Given the description of an element on the screen output the (x, y) to click on. 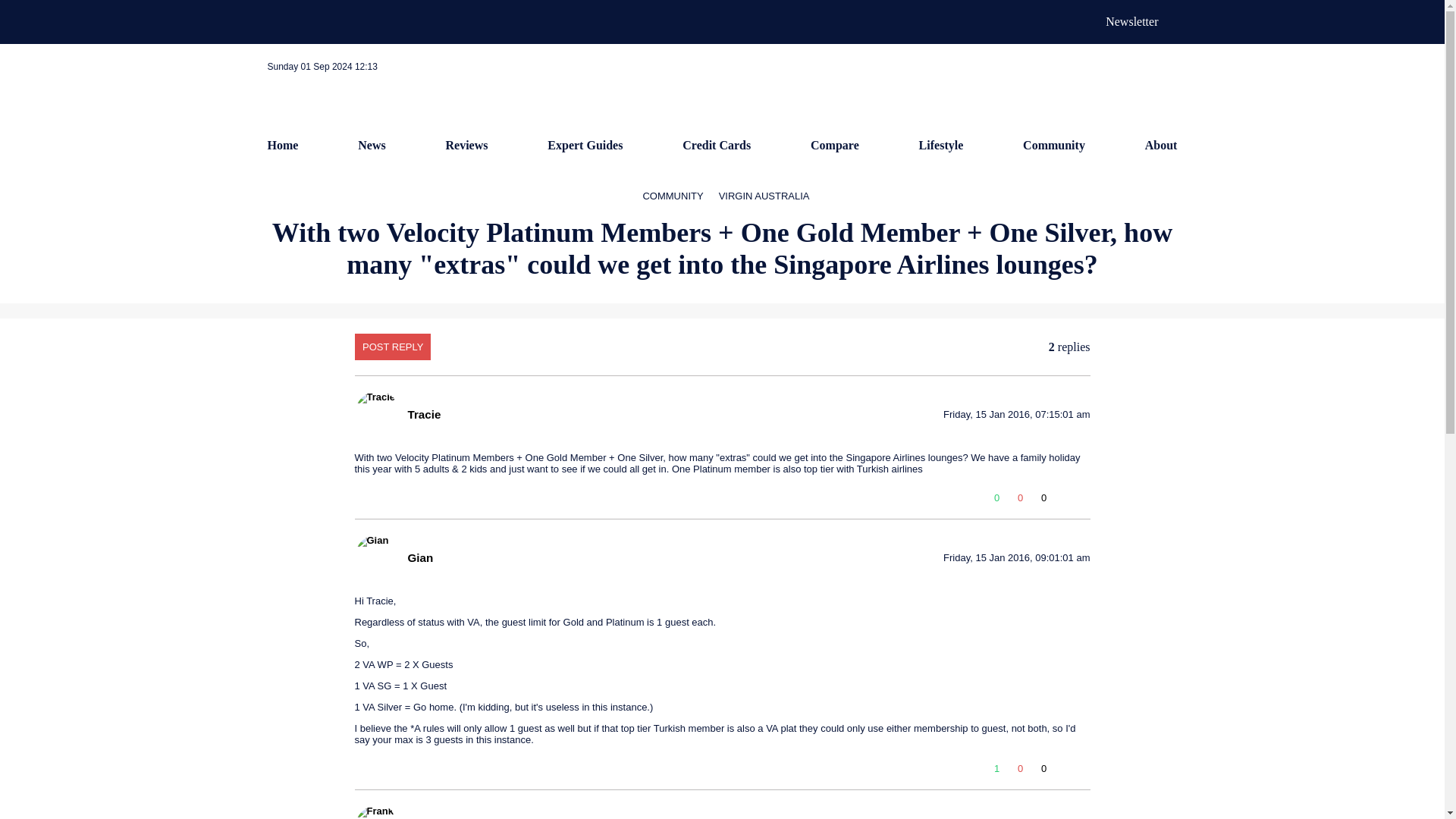
Gian (420, 556)
Report this post (1082, 771)
Report this post (1082, 500)
Tracie (424, 413)
Reply with Quote (1064, 500)
Reply with Quote (1064, 771)
